Given the description of an element on the screen output the (x, y) to click on. 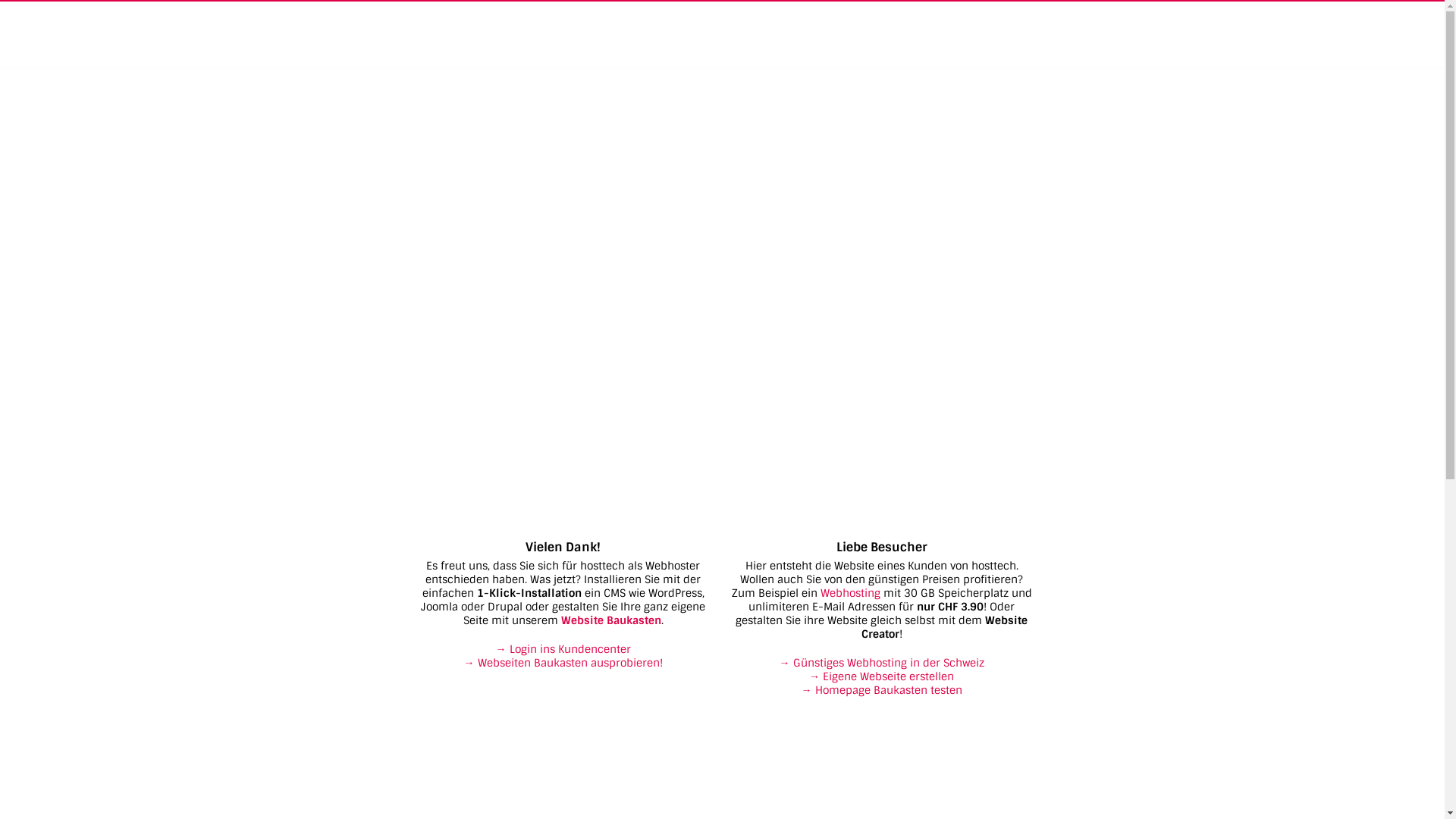
Solutions Element type: text (975, 33)
Webhosting Element type: text (522, 33)
vServer Element type: text (777, 33)
Website Creator Element type: text (690, 33)
Server Element type: text (838, 33)
Website Baukasten Element type: text (611, 620)
Domains Element type: text (903, 33)
Webhosting Element type: text (850, 592)
Reseller Element type: text (600, 33)
